Given the description of an element on the screen output the (x, y) to click on. 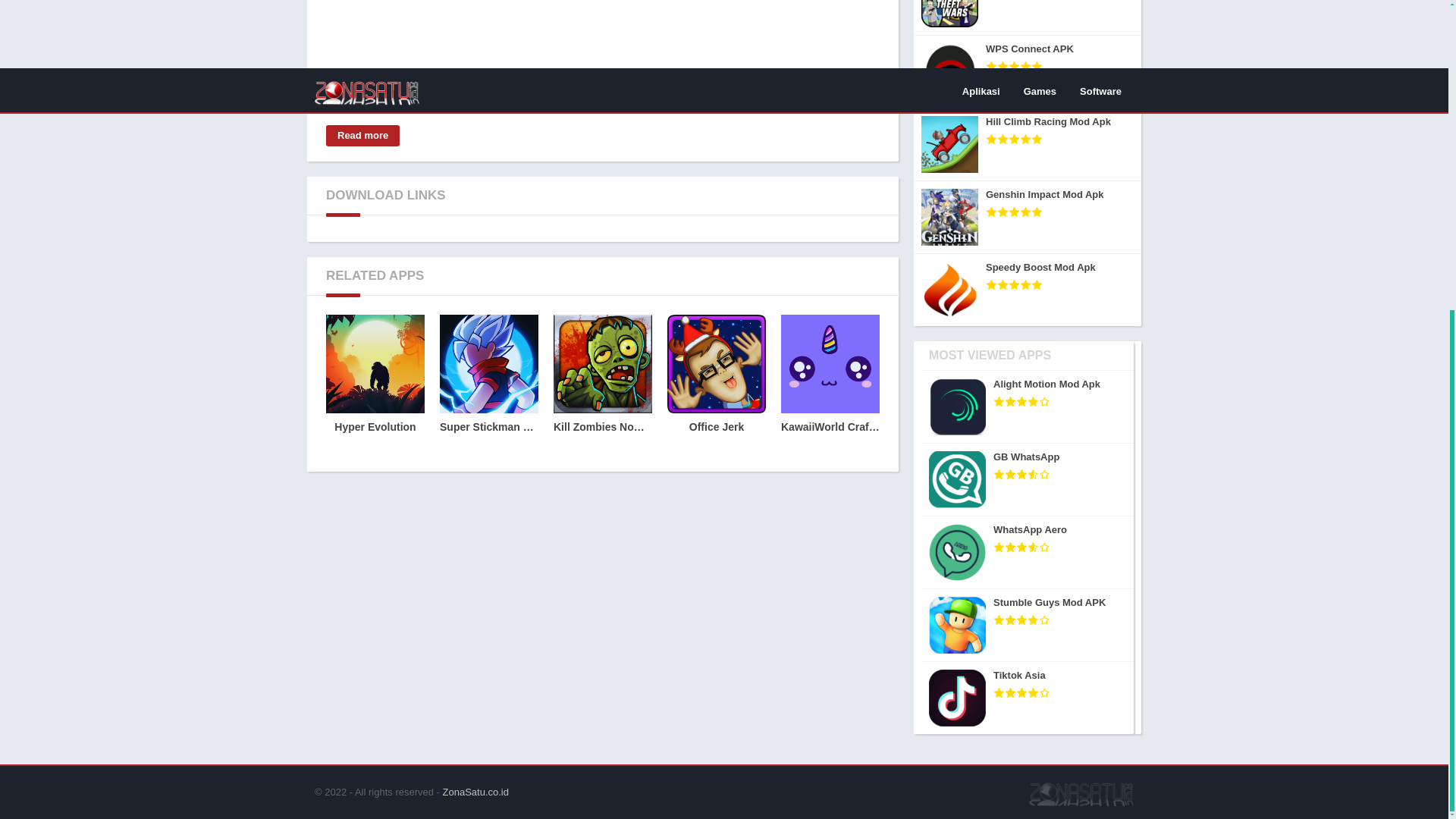
Office Jerk (715, 387)
Hyper Evolution (375, 387)
Office Jerk (715, 387)
Dude Theft Wars Mod Apk (1027, 18)
Kill Zombies Now- Zombie games (602, 387)
Genshin Impact Mod Apk (1027, 216)
Advertisement (602, 108)
Alight Motion Mod Apk (1027, 407)
KawaiiWorld Crafting Game (829, 387)
KawaiiWorld Crafting Game (829, 387)
Speedy Boost Mod Apk (1027, 289)
Kill Zombies Now- Zombie games (602, 387)
Read more (362, 135)
Super Stickman Dragon Warriors (488, 387)
Hyper Evolution (375, 387)
